Given the description of an element on the screen output the (x, y) to click on. 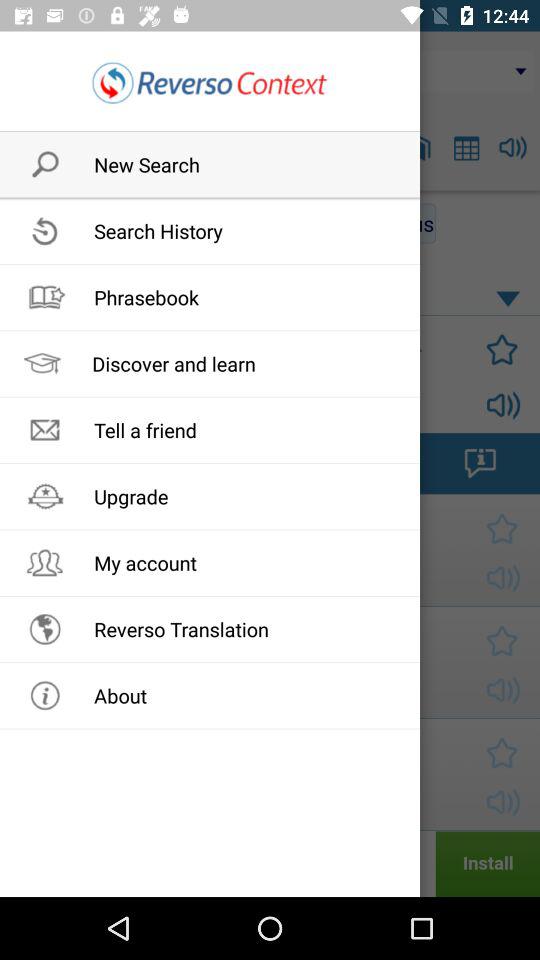
select the symbol below volume (479, 462)
click on the first star favorite icon (497, 349)
select the icon which is left to the search history (38, 223)
